Given the description of an element on the screen output the (x, y) to click on. 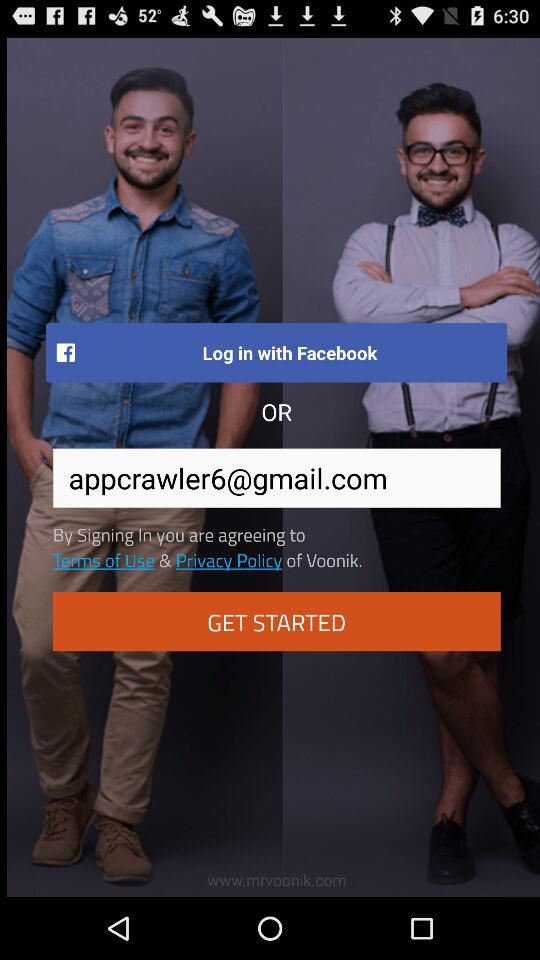
turn on item above get started item (228, 559)
